Given the description of an element on the screen output the (x, y) to click on. 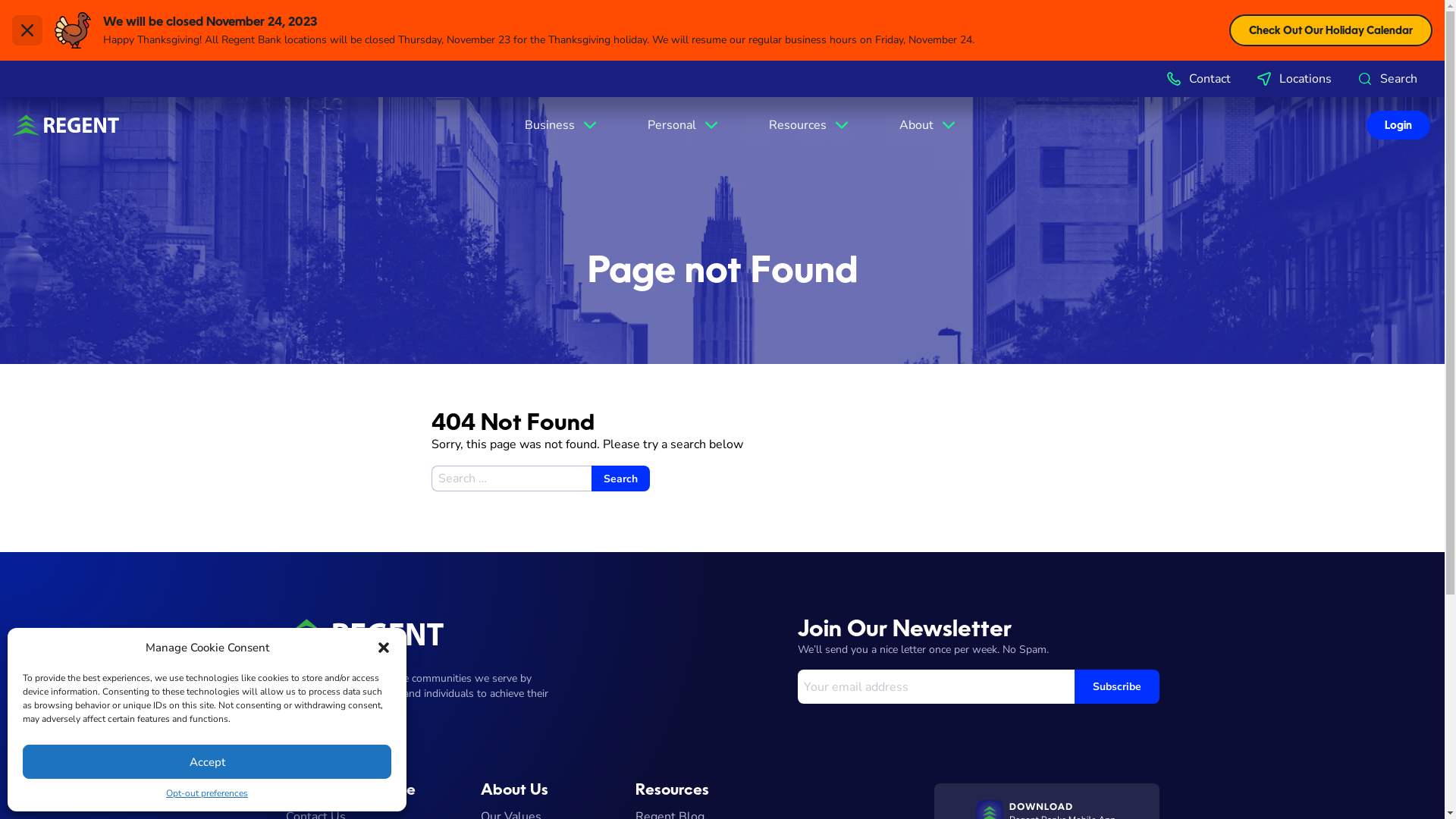
Subscribe Element type: text (1115, 686)
Search Element type: text (1386, 78)
Close this alert bar Element type: text (27, 30)
About Element type: text (928, 125)
Login Element type: text (501, 403)
Personal Element type: text (683, 125)
Opt-out preferences Element type: text (206, 793)
Search Element type: text (620, 478)
Business Element type: text (561, 125)
Contact Element type: text (1197, 78)
Resources Element type: text (809, 125)
Locations Element type: text (1292, 78)
Login Element type: text (1398, 124)
Check Out Our Holiday Calendar Element type: text (1330, 30)
Accept Element type: text (206, 761)
